Given the description of an element on the screen output the (x, y) to click on. 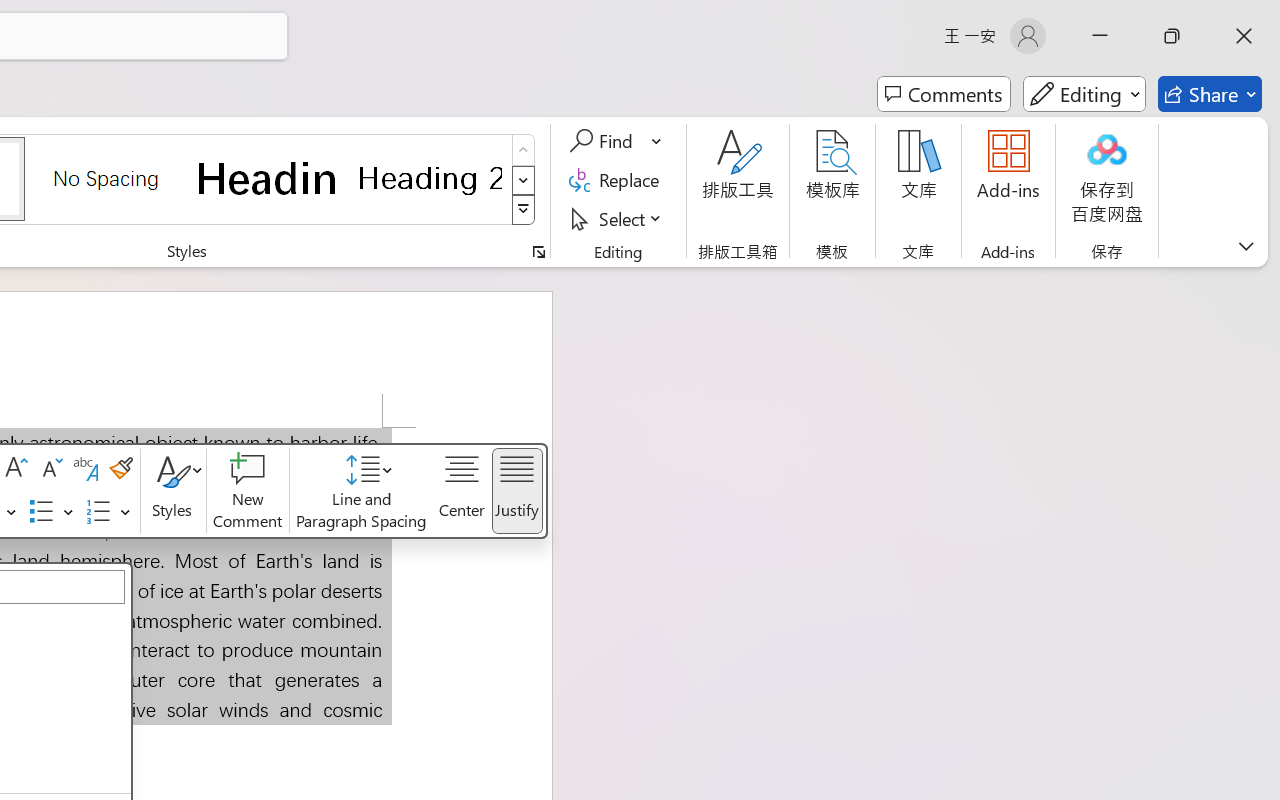
Select (618, 218)
Class: NetUIAnchor (362, 491)
Line and Paragraph Spacing (362, 491)
Styles (173, 491)
New Comment (247, 491)
Styles (523, 209)
